Given the description of an element on the screen output the (x, y) to click on. 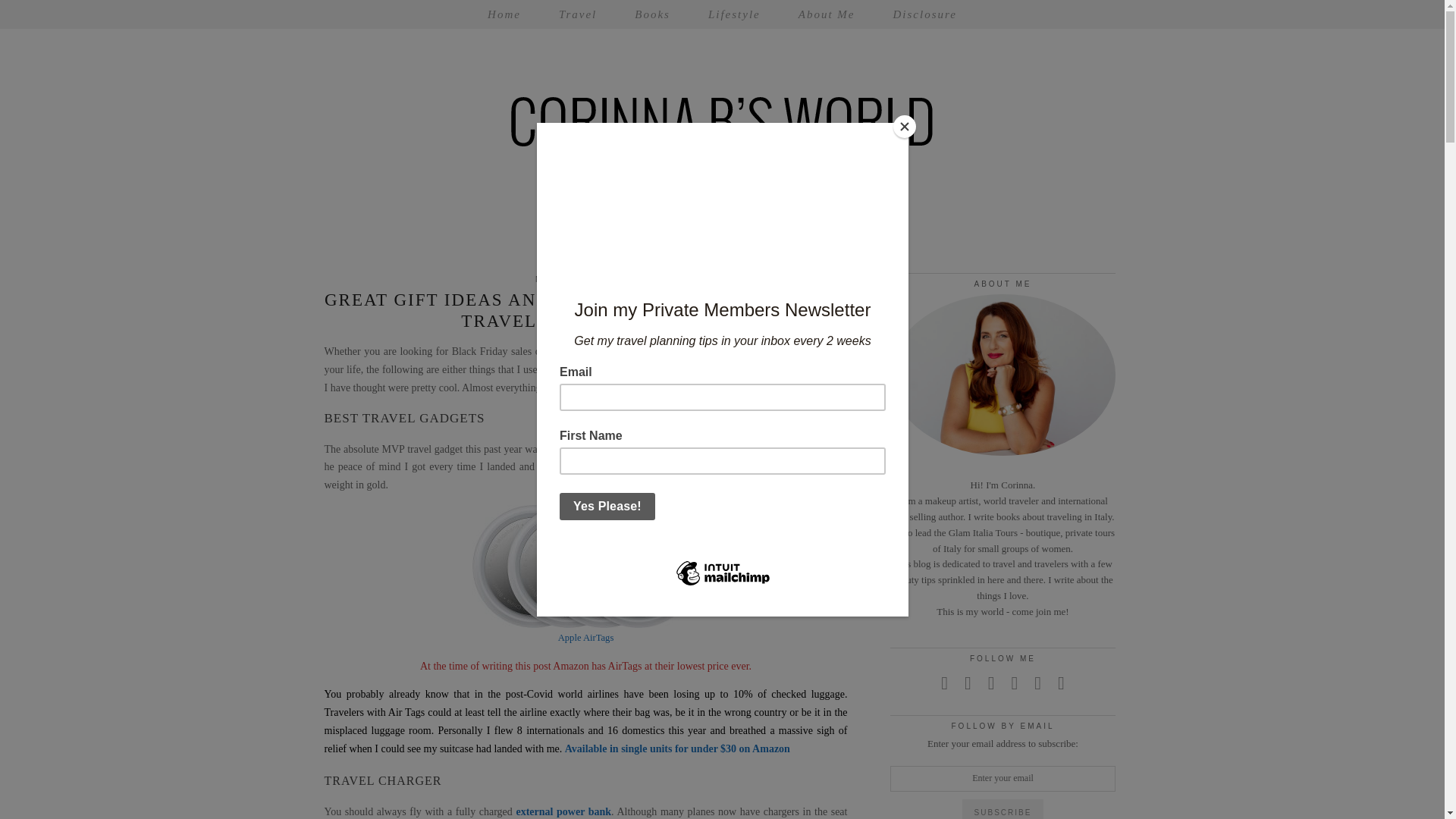
Home (504, 14)
Disclosure (924, 14)
About Me (826, 14)
Travel (577, 14)
Subscribe (1002, 809)
Corinna B's World (722, 133)
external power bank (563, 811)
Apple AirTags (585, 637)
Apple Air Tag. (593, 449)
Lifestyle (733, 14)
Books (651, 14)
